Given the description of an element on the screen output the (x, y) to click on. 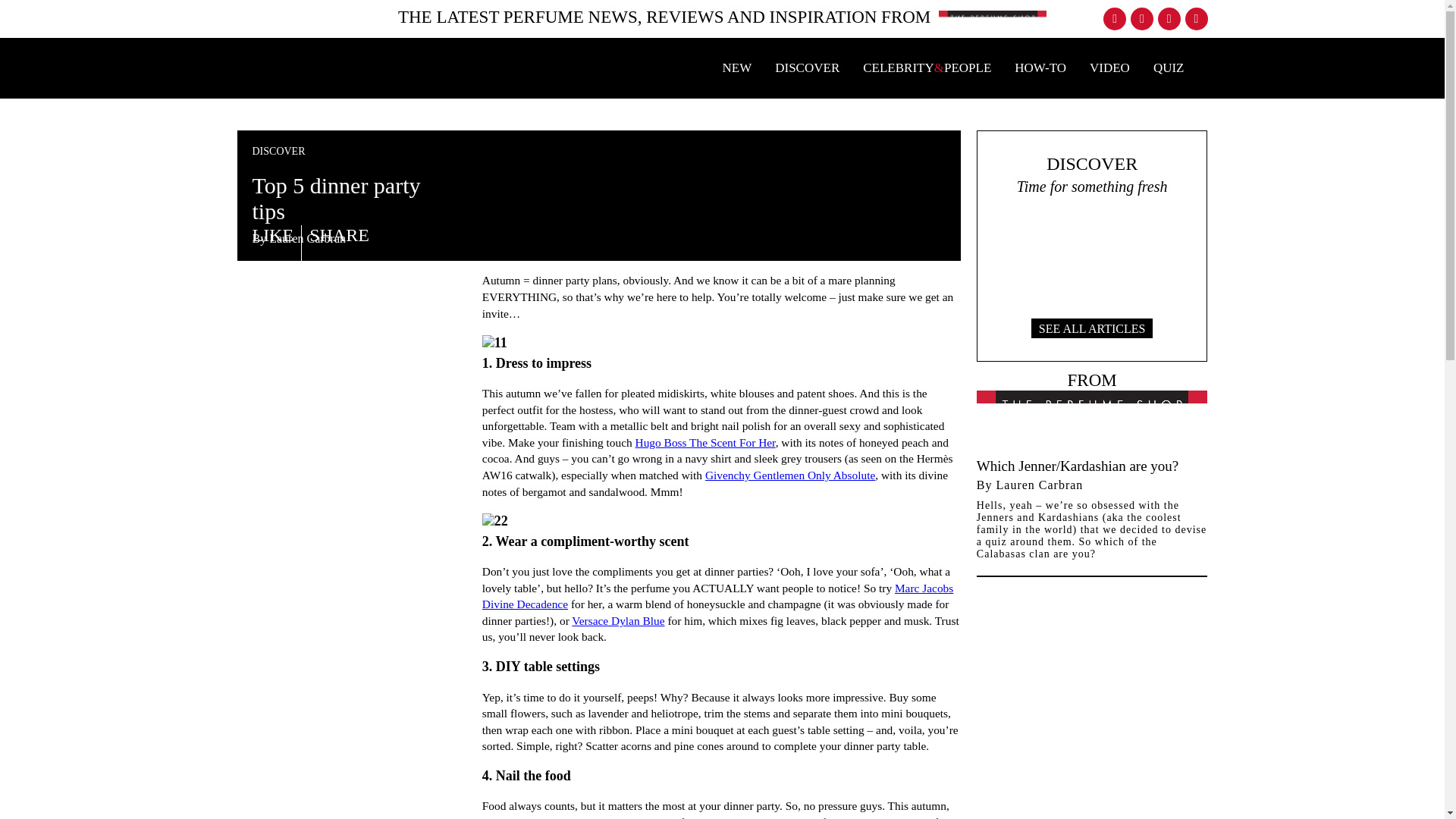
NEW (736, 67)
Hugo Boss The Scent For Her (705, 441)
DISCOVER (1092, 245)
Marc Jacobs Divine Decadence (807, 67)
Versace Dylan Blue (717, 595)
HOW-TO (617, 620)
Givenchy Gentlemen Only Absolute (1039, 67)
QUIZ (789, 474)
VIDEO (1169, 67)
